Given the description of an element on the screen output the (x, y) to click on. 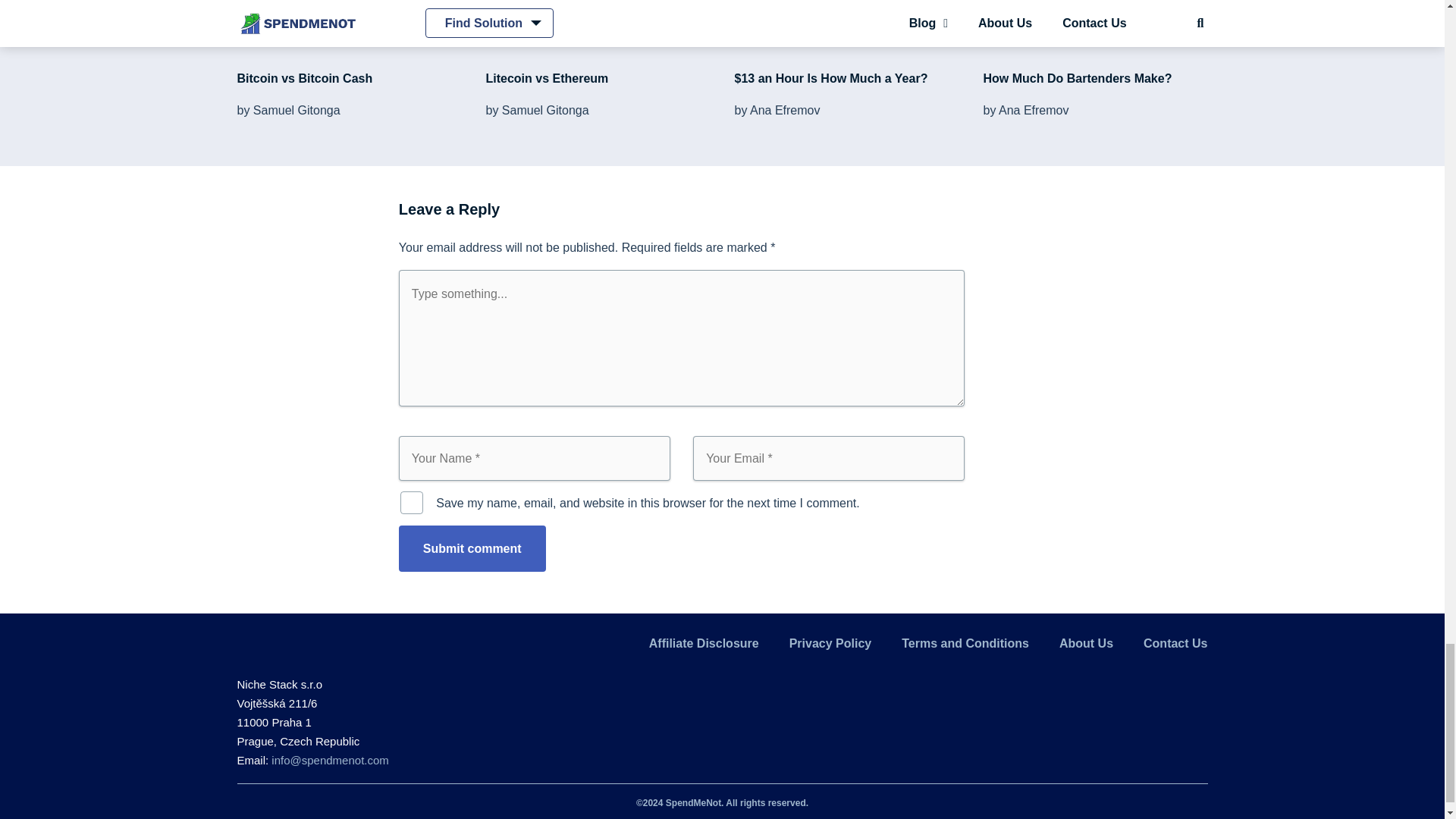
Bitcoin vs Bitcoin Cash (303, 78)
Litecoin vs Ethereum (546, 78)
Submit comment (472, 548)
Previous (233, 4)
